Given the description of an element on the screen output the (x, y) to click on. 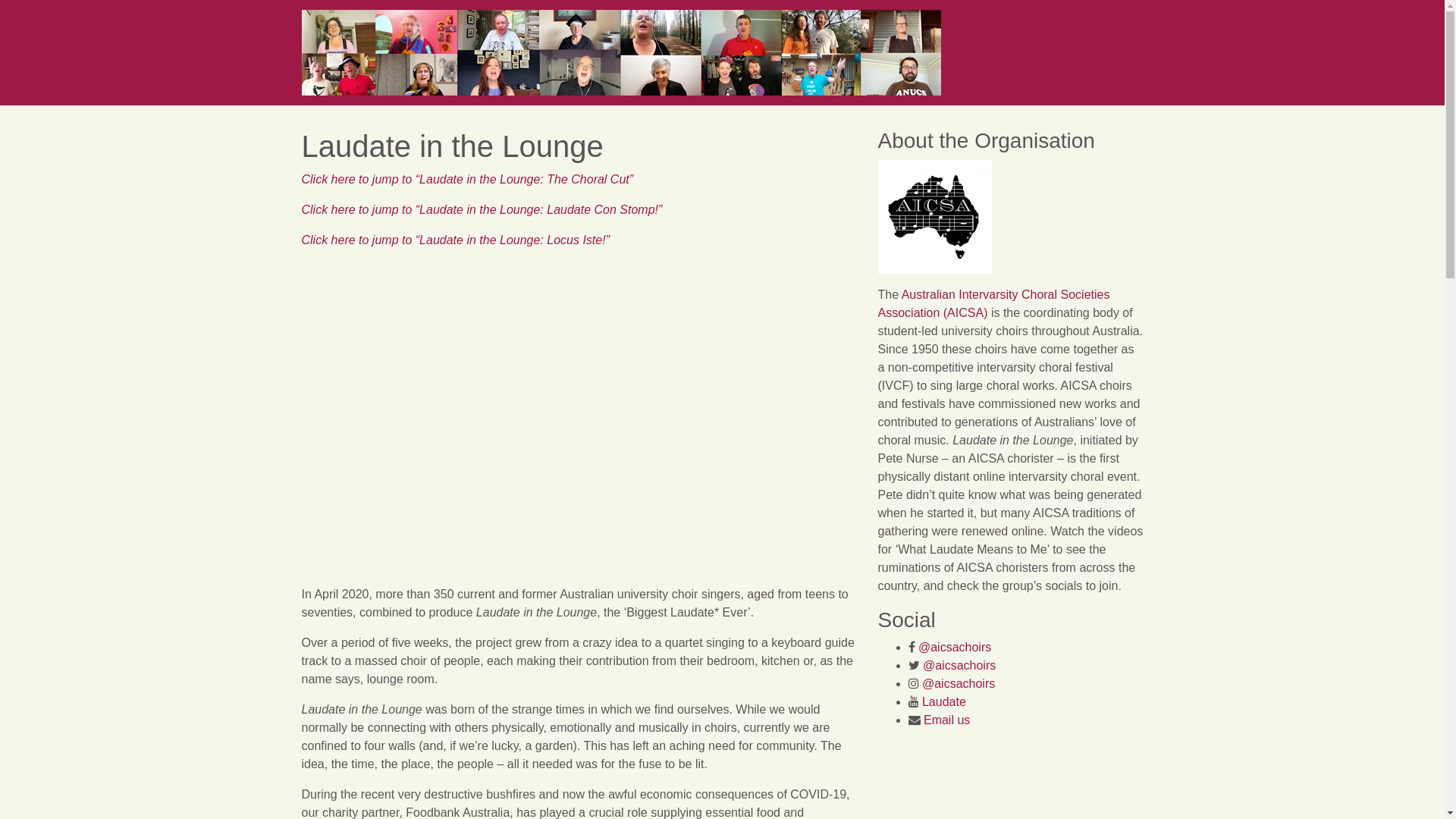
@aicsachoirs Element type: text (958, 683)
Skip to content Element type: text (1443, 0)
Laudate in the Lounge Element type: hover (578, 417)
Laudate Element type: text (944, 701)
@aicsachoirs Element type: text (954, 646)
Australian Intervarsity Choral Societies Association (AICSA) Element type: text (994, 303)
@aicsachoirs Element type: text (958, 664)
Email us Element type: text (946, 719)
